Given the description of an element on the screen output the (x, y) to click on. 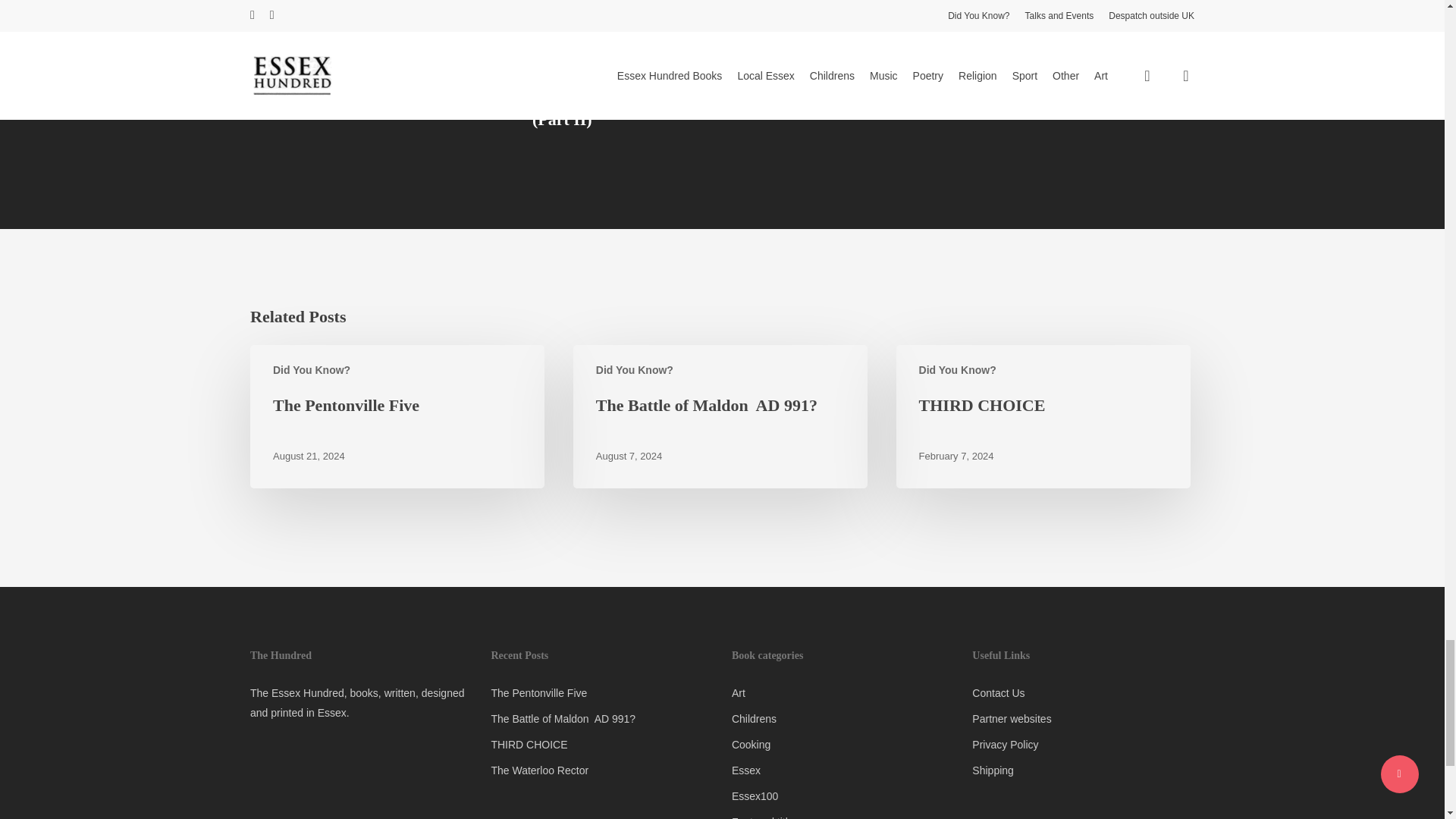
Did You Know? (311, 370)
Did You Know? (633, 370)
Did You Know? (956, 370)
